Given the description of an element on the screen output the (x, y) to click on. 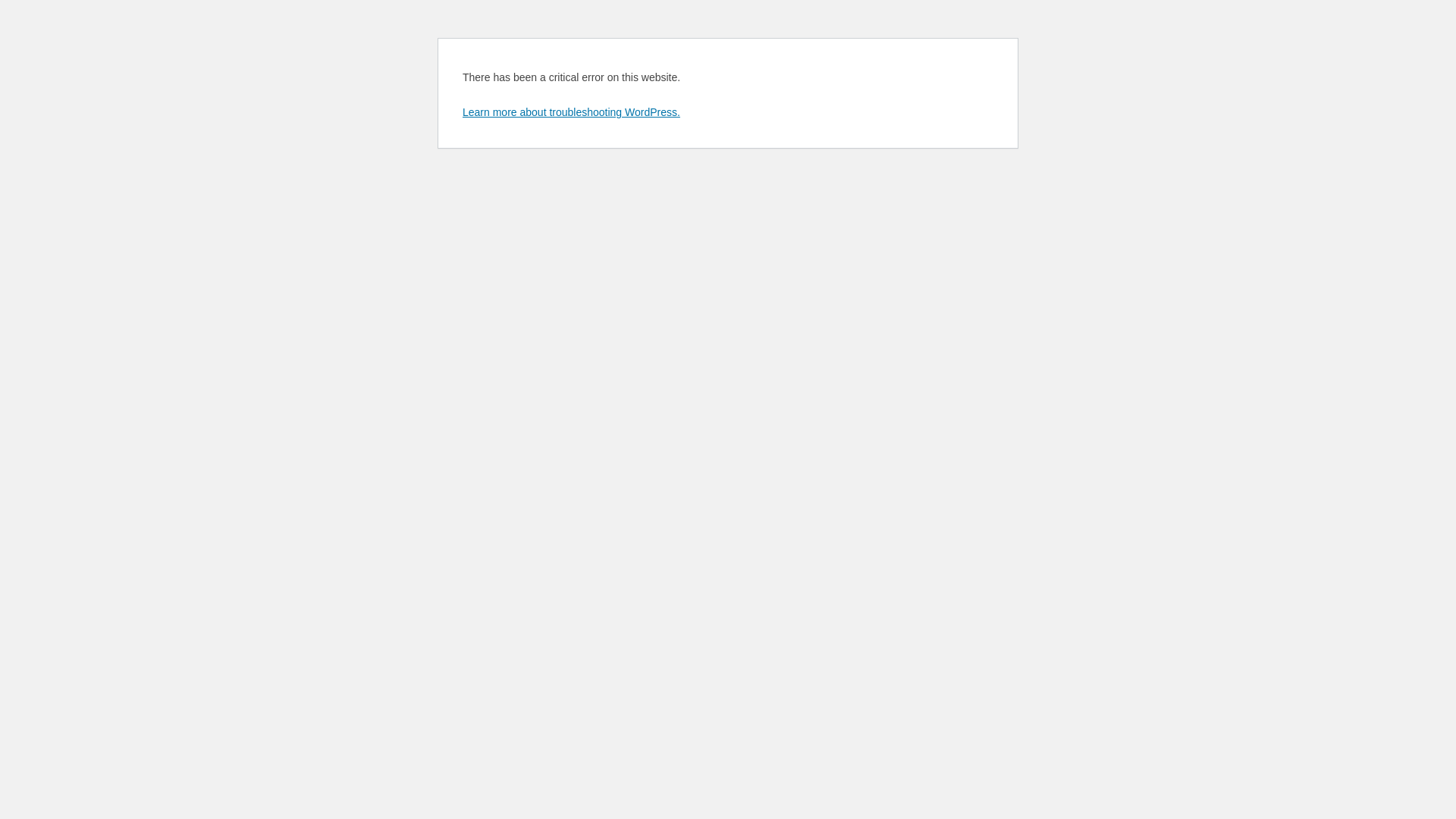
Learn more about troubleshooting WordPress. Element type: text (571, 112)
